Given the description of an element on the screen output the (x, y) to click on. 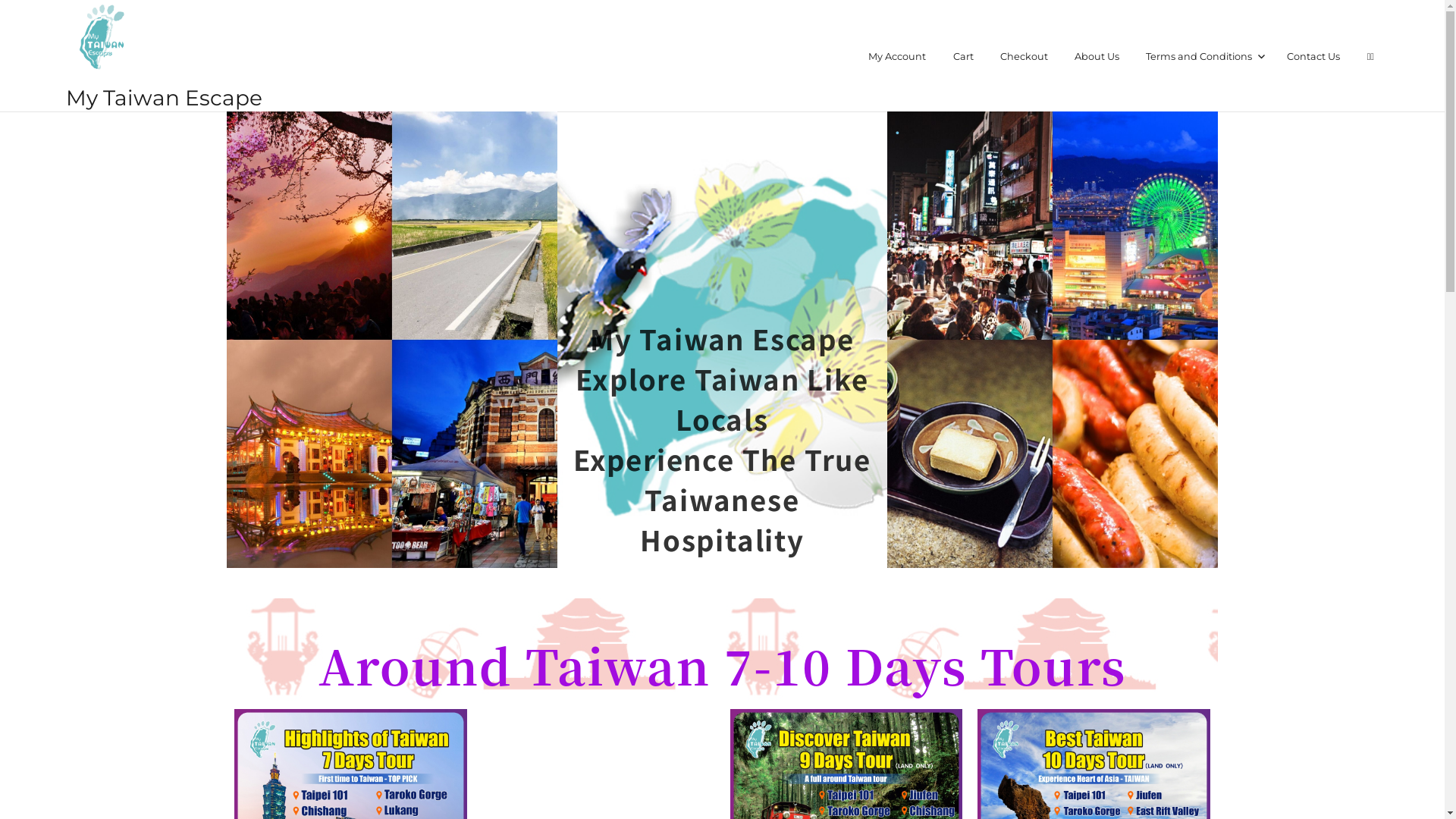
Terms and Conditions Element type: text (1202, 55)
My Taiwan Escape Element type: text (163, 97)
Contact Us Element type: text (1313, 55)
About Us Element type: text (1096, 55)
My Account Element type: text (897, 55)
Checkout Element type: text (1023, 55)
Cart Element type: text (962, 55)
